Given the description of an element on the screen output the (x, y) to click on. 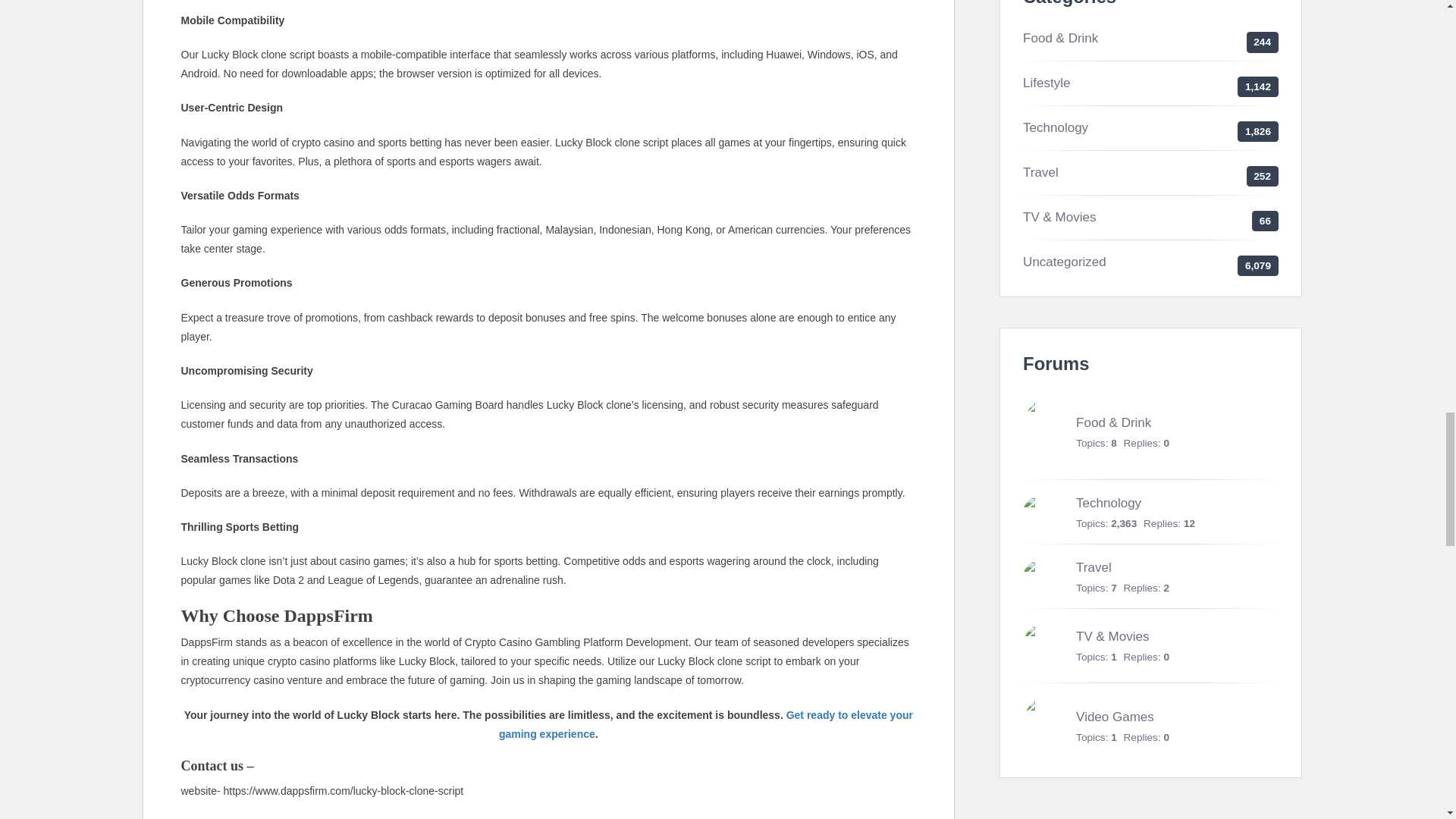
Get ready to elevate your gaming experience (705, 723)
Lucky block clone (705, 723)
